Given the description of an element on the screen output the (x, y) to click on. 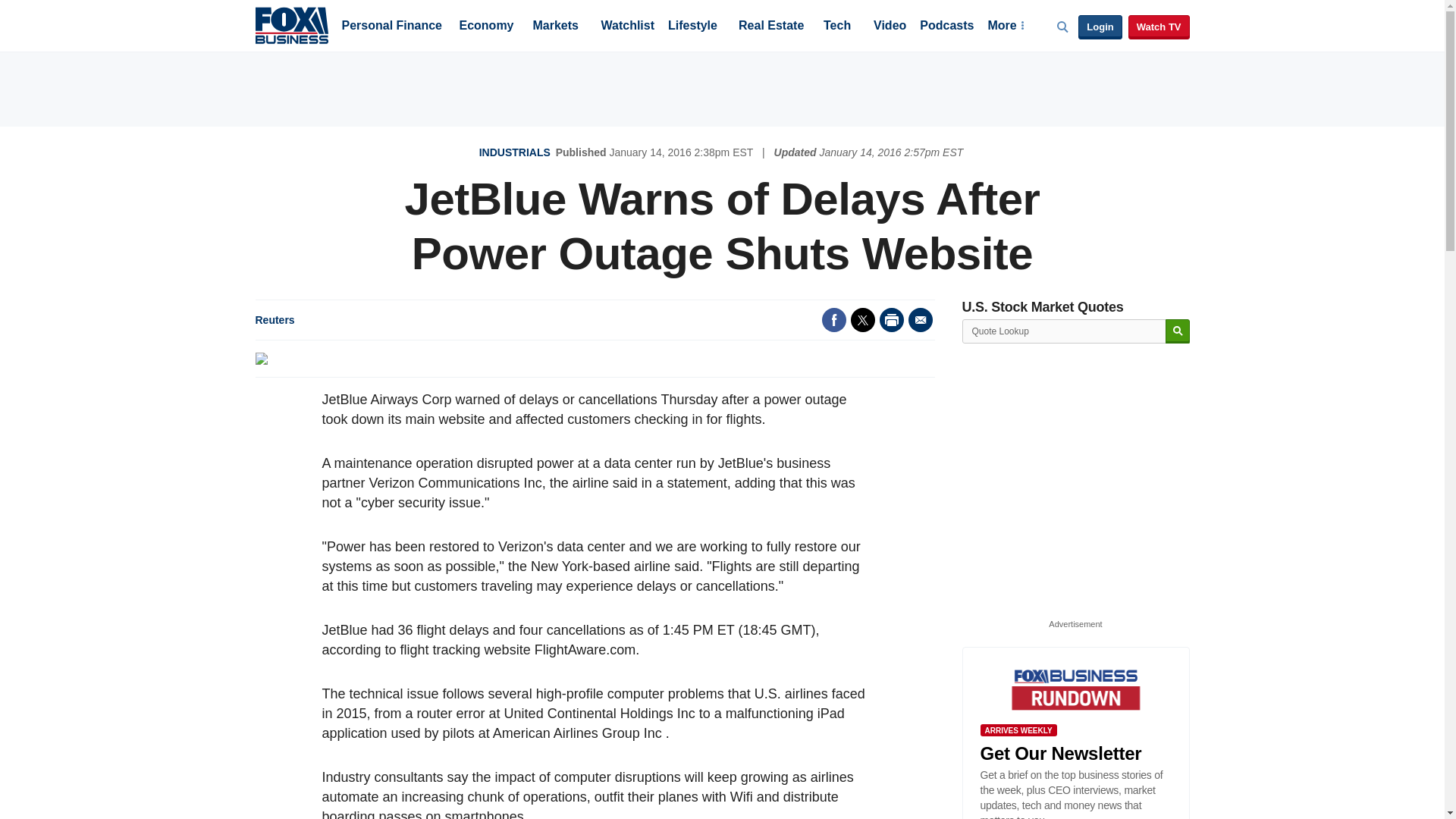
Podcasts (947, 27)
Fox Business (290, 24)
Login (1099, 27)
Watch TV (1158, 27)
Video (889, 27)
Markets (555, 27)
Lifestyle (692, 27)
More (1005, 27)
Real Estate (770, 27)
Personal Finance (391, 27)
